Given the description of an element on the screen output the (x, y) to click on. 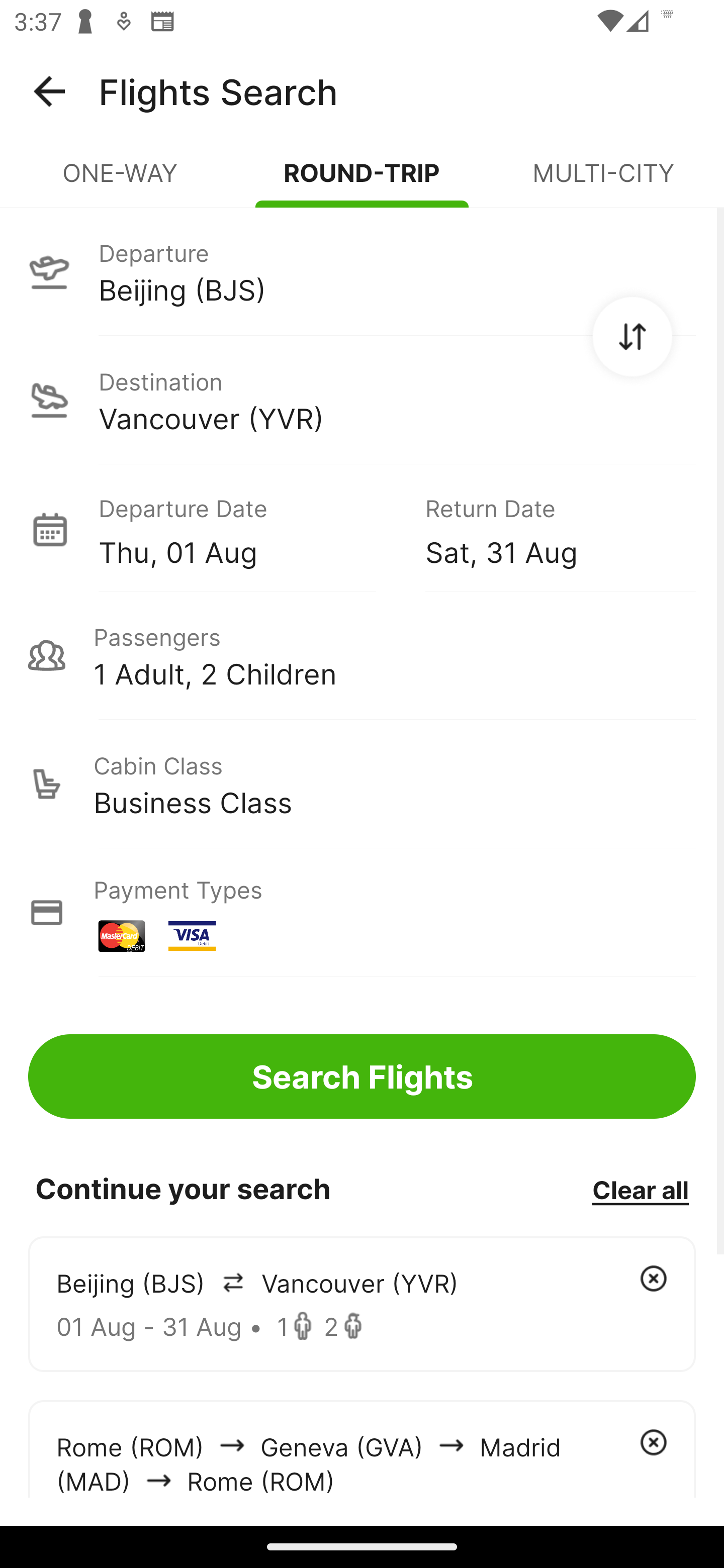
ONE-WAY (120, 180)
ROUND-TRIP (361, 180)
MULTI-CITY (603, 180)
Departure Beijing (BJS) (362, 270)
Destination Vancouver (YVR) (362, 400)
Departure Date Thu, 01 Aug (247, 528)
Return Date Sat, 31 Aug (546, 528)
Passengers 1 Adult, 2 Children (362, 655)
Cabin Class Business Class (362, 783)
Payment Types (362, 912)
Search Flights (361, 1075)
Clear all (640, 1189)
